Given the description of an element on the screen output the (x, y) to click on. 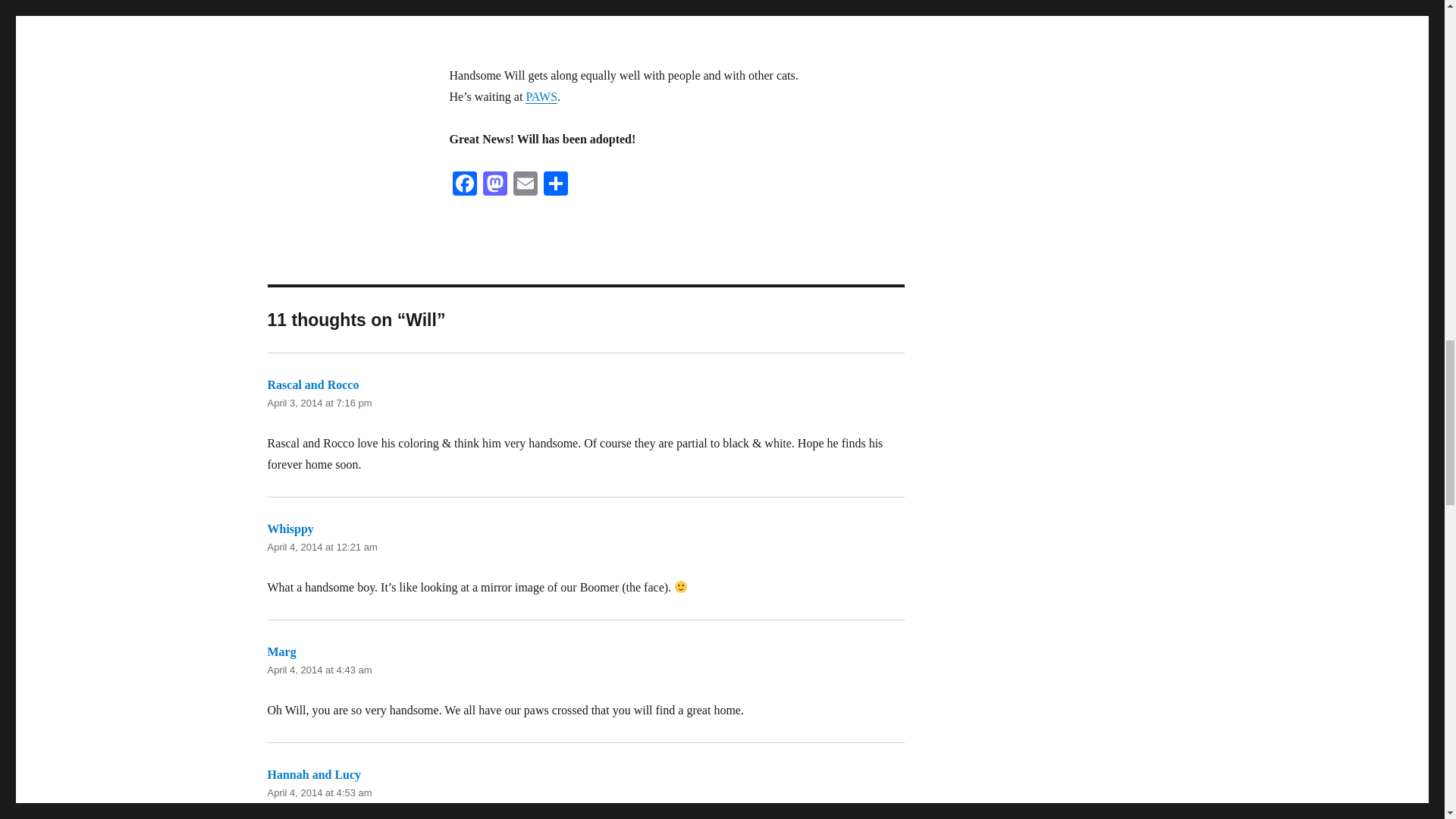
Whisppy (289, 528)
April 3, 2014 at 7:16 pm (318, 402)
Mastodon (494, 185)
Facebook (463, 185)
April 4, 2014 at 4:53 am (318, 792)
Hannah and Lucy (313, 774)
Rascal and Rocco (312, 384)
PAWS (541, 96)
Mastodon (494, 185)
April 4, 2014 at 12:21 am (321, 546)
Marg (280, 651)
Email (524, 185)
April 4, 2014 at 4:43 am (318, 669)
Email (524, 185)
Facebook (463, 185)
